Given the description of an element on the screen output the (x, y) to click on. 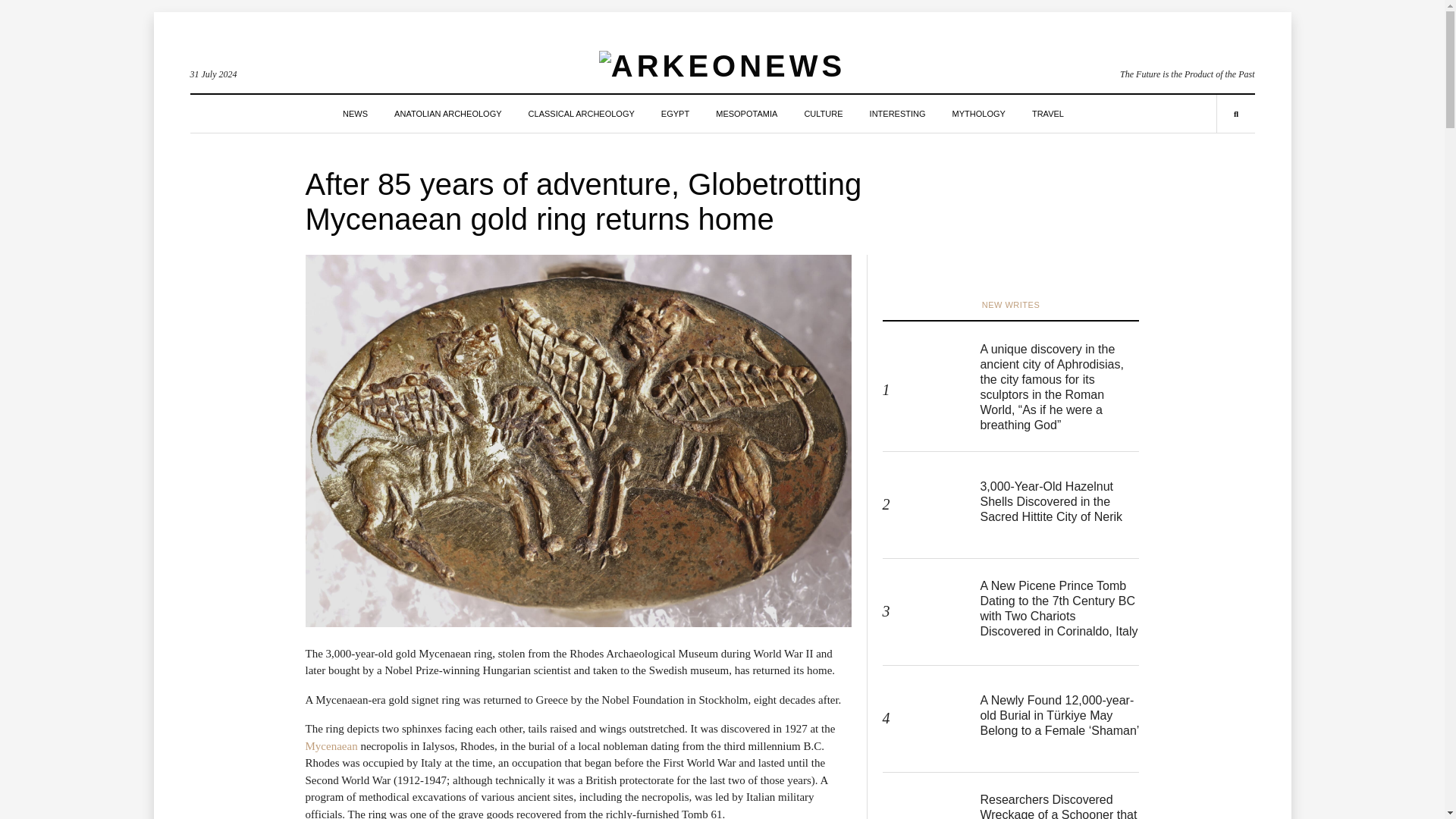
MYTHOLOGY (979, 113)
MESOPOTAMIA (746, 113)
INTERESTING (897, 113)
CLASSICAL ARCHEOLOGY (581, 113)
CULTURE (823, 113)
ANATOLIAN ARCHEOLOGY (447, 113)
